Given the description of an element on the screen output the (x, y) to click on. 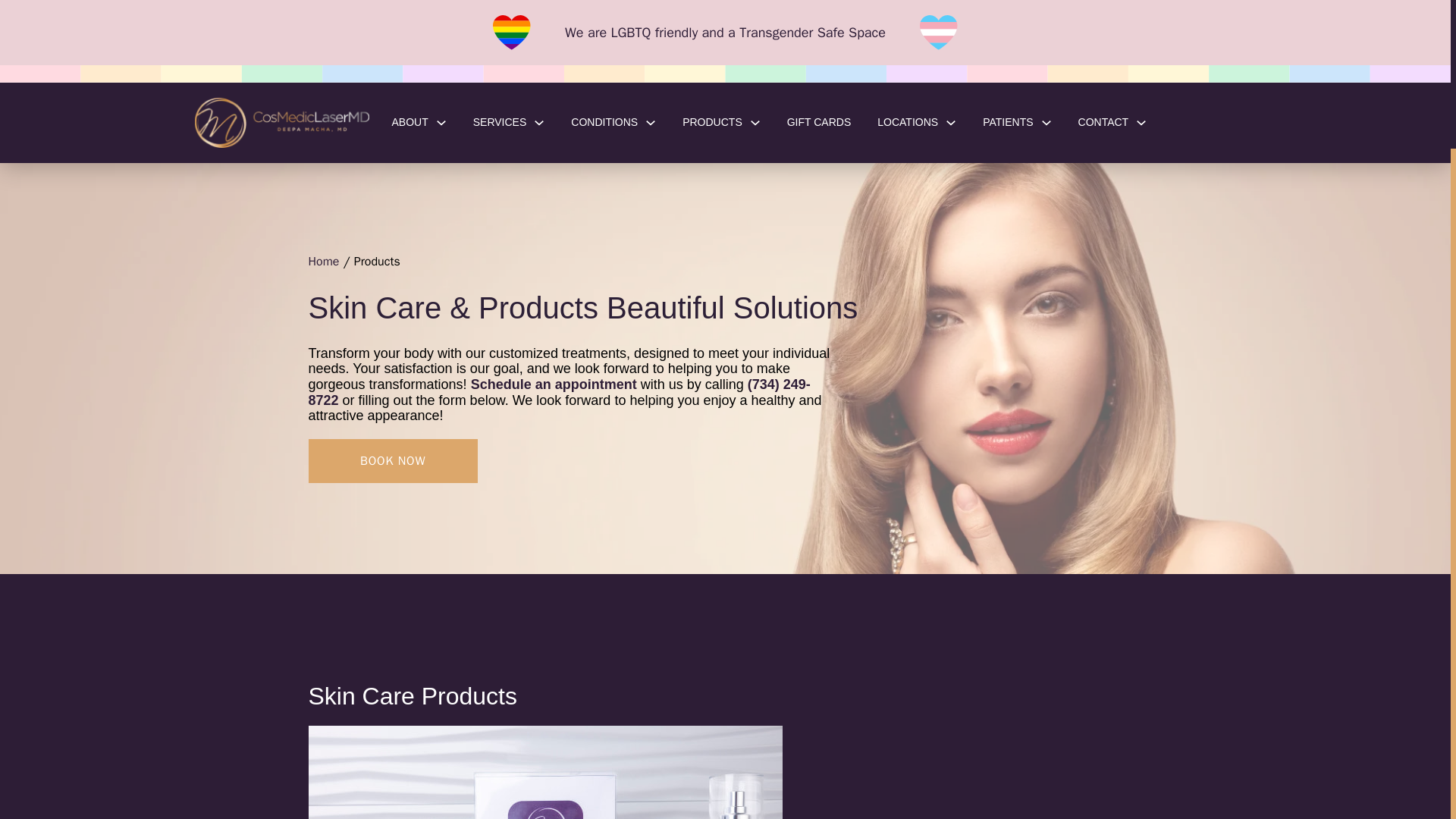
SERVICES (500, 122)
ABOUT (409, 122)
